Given the description of an element on the screen output the (x, y) to click on. 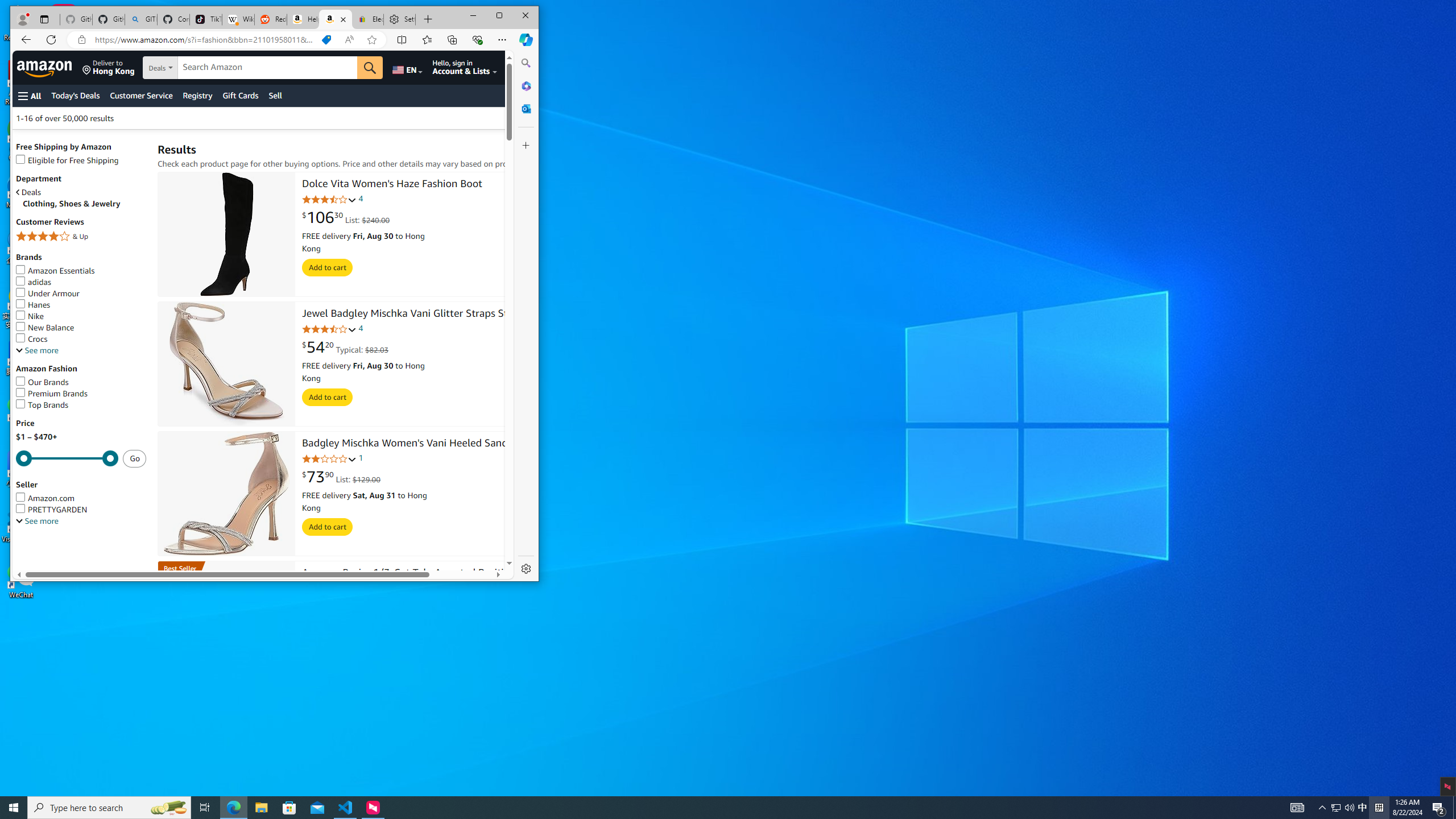
4 Stars & Up (80, 237)
Customer Service (140, 95)
Amazon Essentials (80, 271)
GITHUB - Search (140, 19)
Search in (199, 68)
Wikipedia, the free encyclopedia (237, 19)
Maximize (499, 15)
Open Menu (29, 95)
Amazon.com (335, 19)
See more, Seller (37, 520)
